Given the description of an element on the screen output the (x, y) to click on. 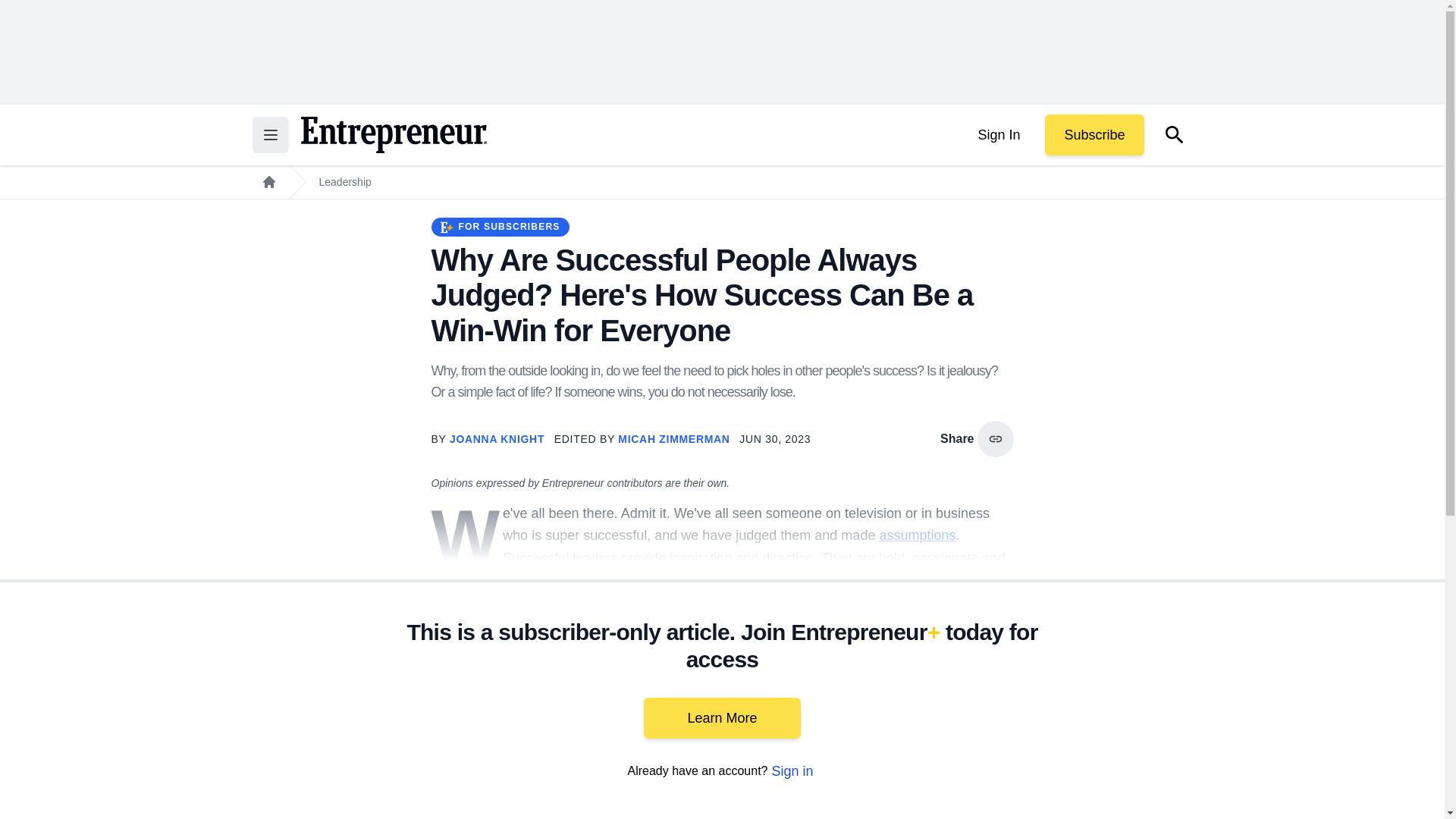
copy (994, 438)
Sign In (998, 134)
Subscribe (1093, 134)
Return to the home page (392, 135)
